Given the description of an element on the screen output the (x, y) to click on. 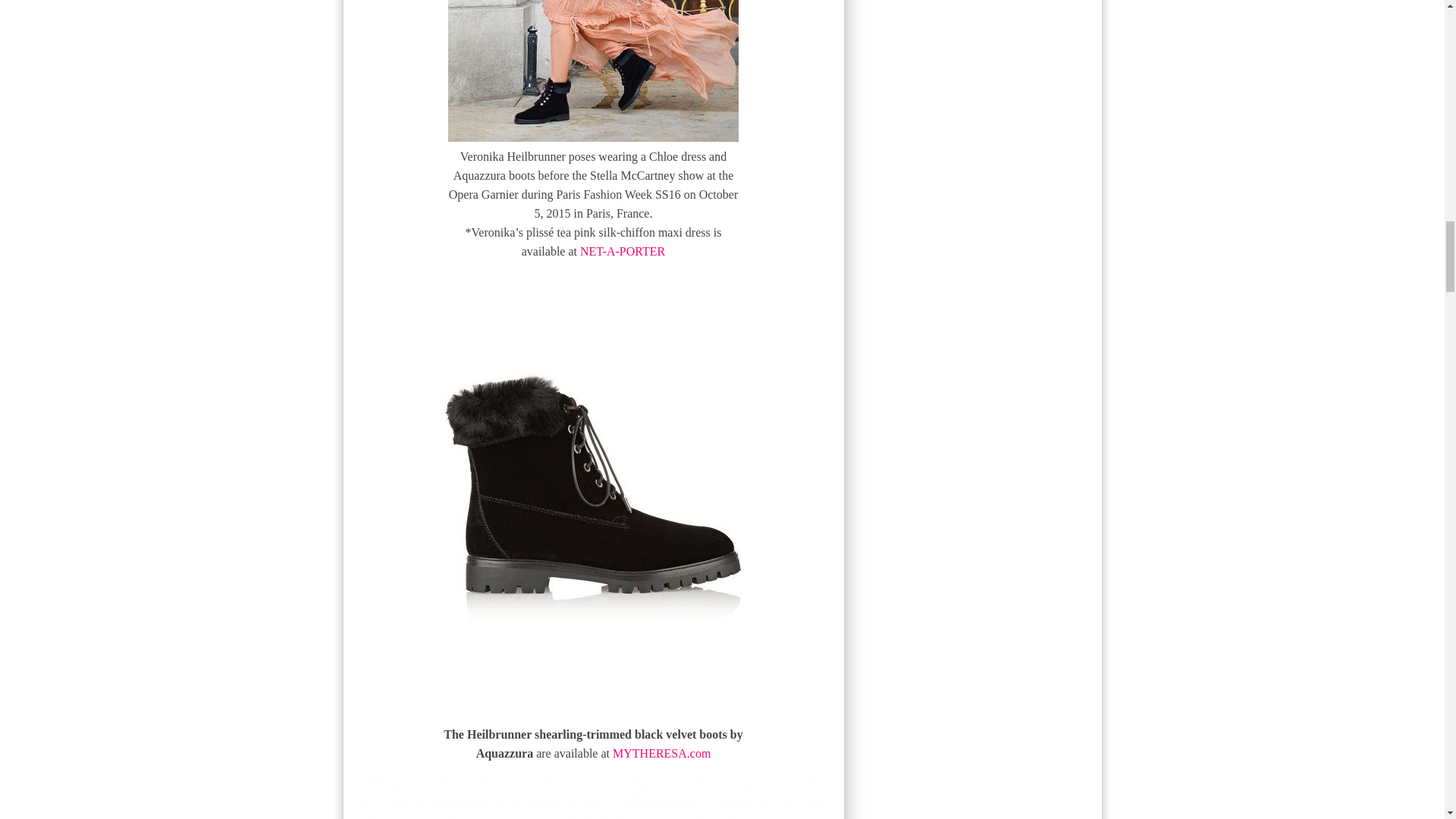
NET-A-PORTER (622, 250)
MYTHERESA.com (661, 753)
